Given the description of an element on the screen output the (x, y) to click on. 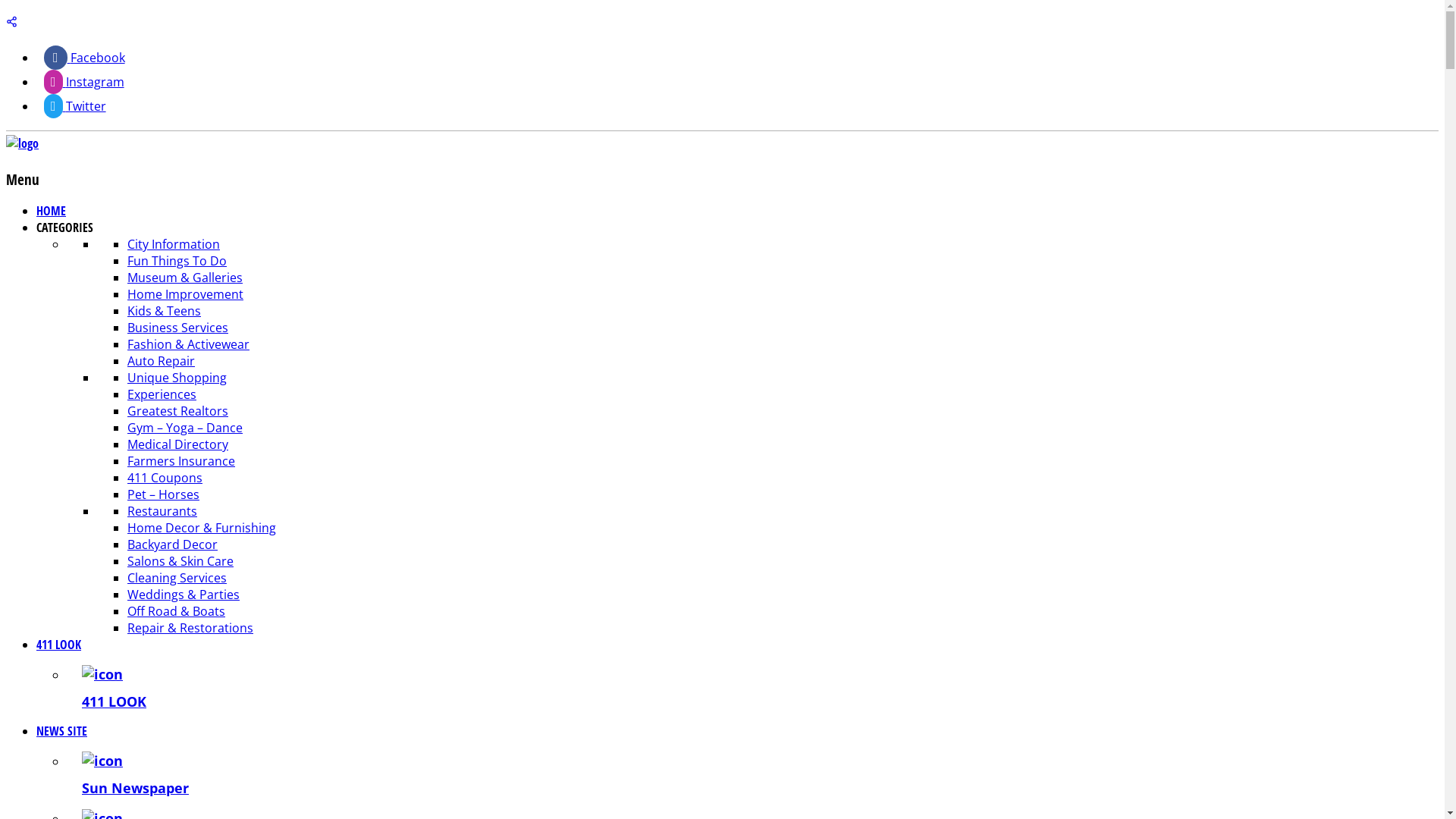
Museum & Galleries Element type: text (184, 277)
City Information Element type: text (173, 243)
Home Decor & Furnishing Element type: text (201, 527)
Salons & Skin Care Element type: text (180, 560)
Home Improvement Element type: text (185, 293)
NEWS SITE Element type: text (61, 730)
Sun Newspaper Element type: text (752, 774)
Business Services Element type: text (177, 327)
411 LOOK Element type: text (58, 644)
Fun Things To Do Element type: text (176, 260)
Greatest Realtors Element type: text (177, 410)
411 LOOK Element type: text (752, 687)
Cleaning Services Element type: text (176, 577)
Instagram Element type: text (83, 81)
Experiences Element type: text (161, 393)
Kids & Teens Element type: text (163, 310)
Medical Directory Element type: text (177, 444)
411 Coupons Element type: text (164, 477)
Off Road & Boats Element type: text (176, 610)
Facebook Element type: text (84, 57)
Twitter Element type: text (74, 105)
Auto Repair Element type: text (160, 360)
HOME Element type: text (50, 210)
Repair & Restorations Element type: text (190, 627)
Restaurants Element type: text (162, 510)
Farmers Insurance Element type: text (181, 460)
Unique Shopping Element type: text (176, 377)
Fashion & Activewear Element type: text (188, 343)
CATEGORIES Element type: text (64, 227)
411Look Element type: hover (22, 142)
Backyard Decor Element type: text (172, 544)
Weddings & Parties Element type: text (183, 594)
